Given the description of an element on the screen output the (x, y) to click on. 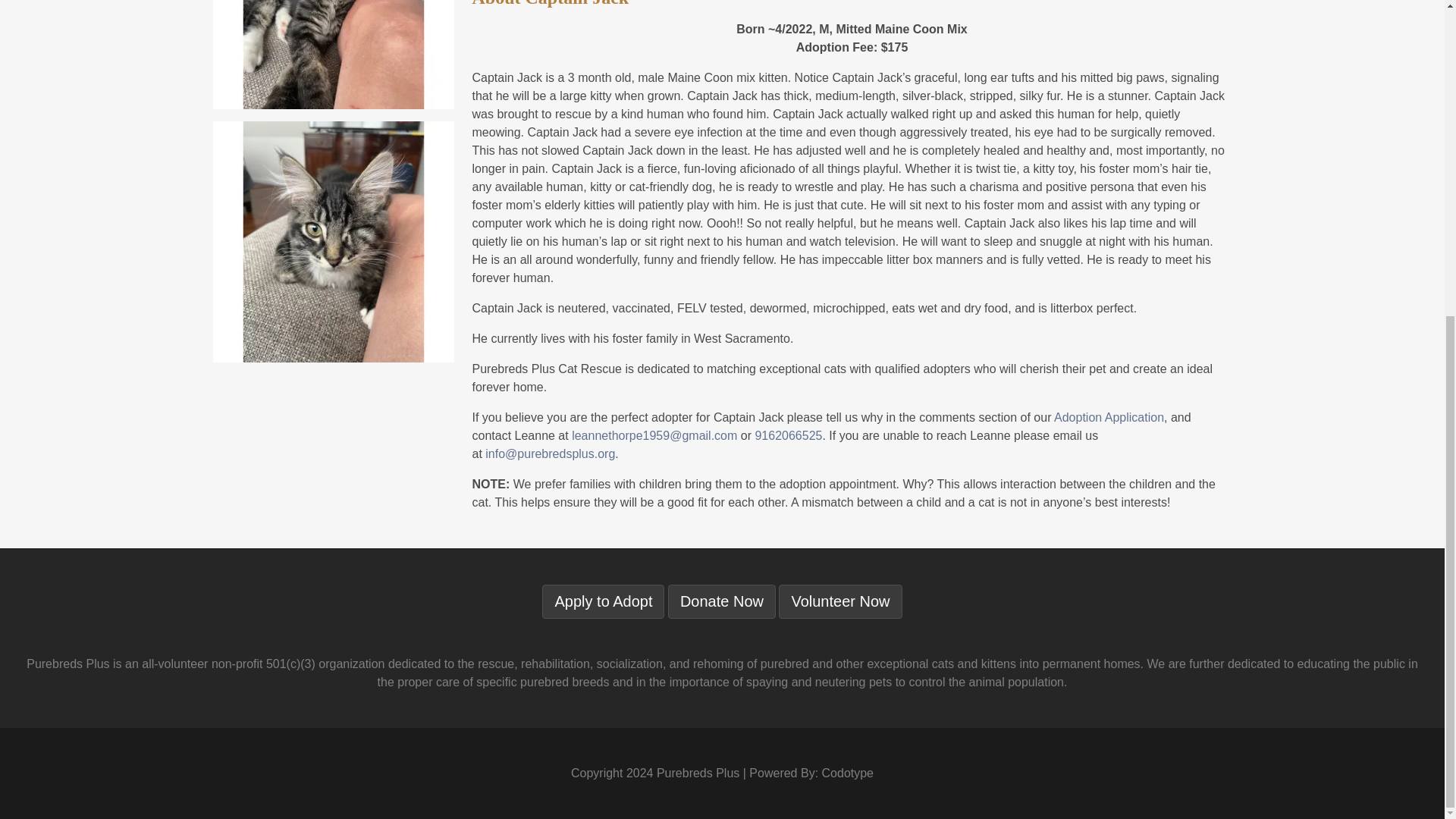
Volunteer Now (839, 601)
Apply to Adopt (602, 601)
Donate Now (722, 601)
9162066525 (788, 435)
Adoption Application (1108, 417)
